Given the description of an element on the screen output the (x, y) to click on. 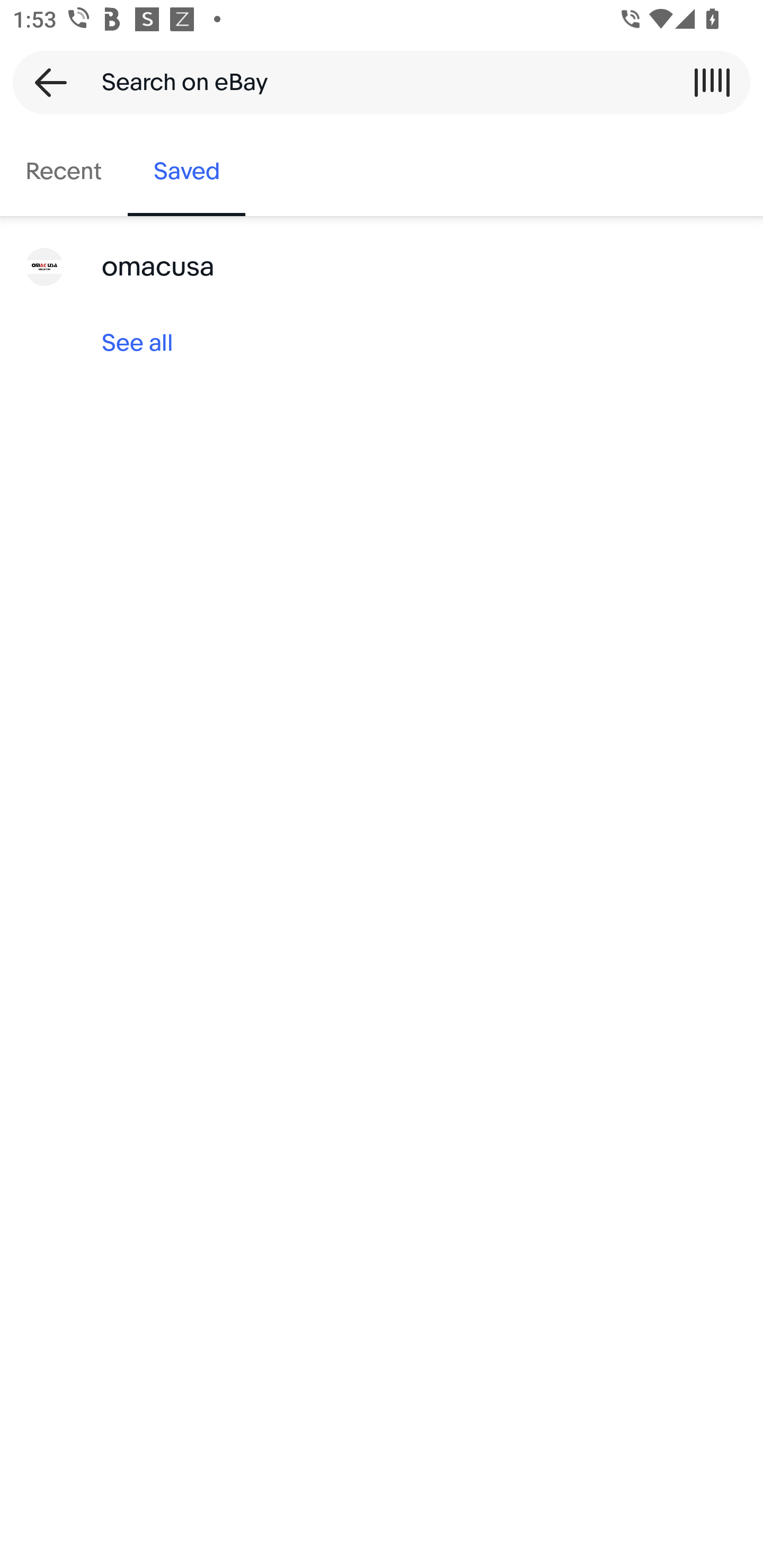
Back (44, 82)
Scan a barcode (711, 82)
Search on eBay (375, 82)
Recent, tab 1 of 2 Recent (63, 171)
User Search omacusa: omacusa (381, 266)
See all See all members (381, 343)
